Given the description of an element on the screen output the (x, y) to click on. 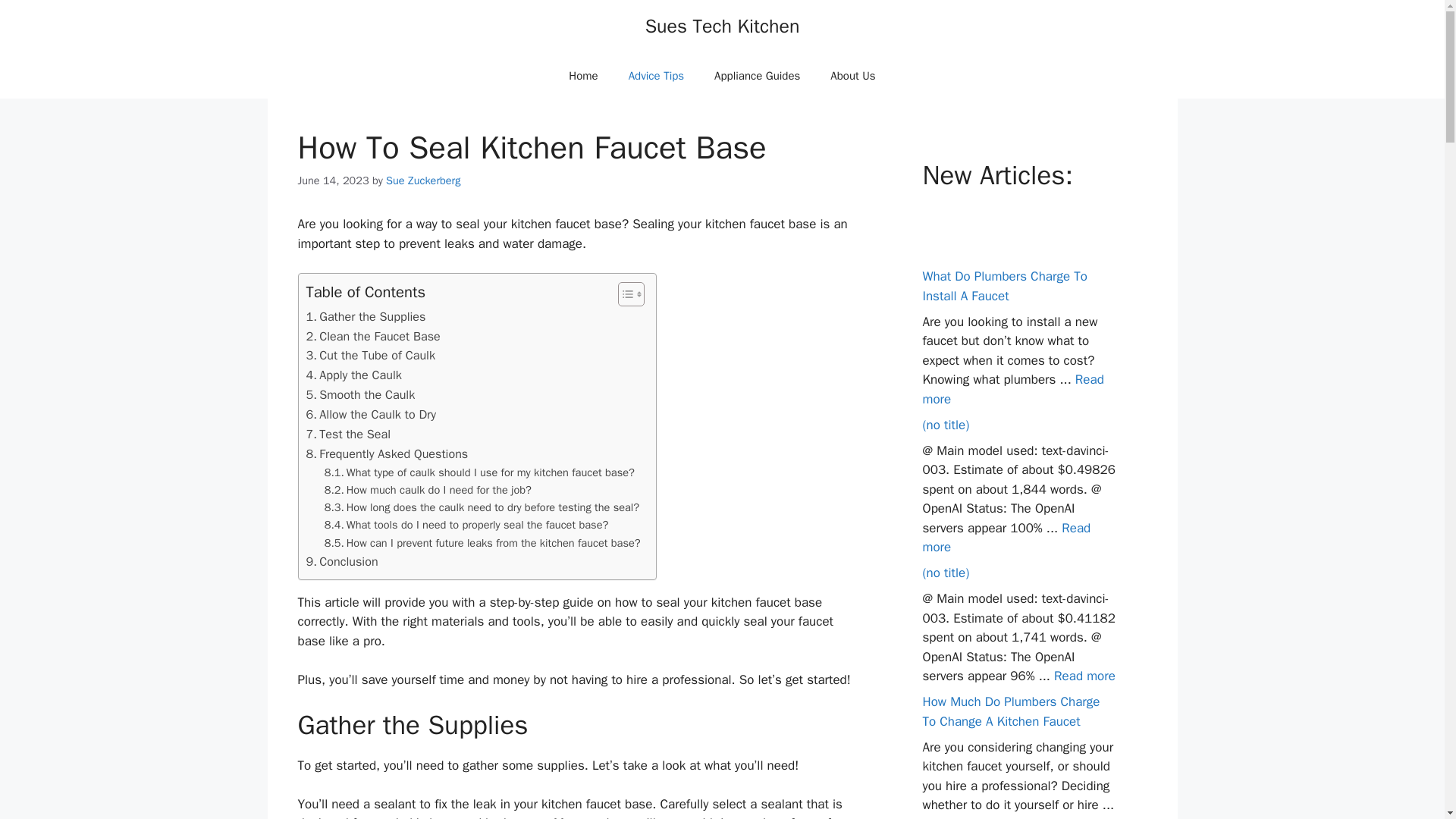
Frequently Asked Questions (386, 454)
Read more (1005, 538)
What tools do I need to properly seal the faucet base? (466, 524)
Read more (1084, 675)
What Do Plumbers Charge To Install A Faucet (1003, 285)
Frequently Asked Questions (386, 454)
Gather the Supplies (365, 316)
Sue Zuckerberg (422, 180)
Read more (952, 817)
How long does the caulk need to dry before testing the seal? (481, 507)
How much caulk do I need for the job? (427, 489)
Read more (1012, 389)
What tools do I need to properly seal the faucet base? (466, 524)
Smooth the Caulk (359, 394)
How long does the caulk need to dry before testing the seal? (481, 507)
